Given the description of an element on the screen output the (x, y) to click on. 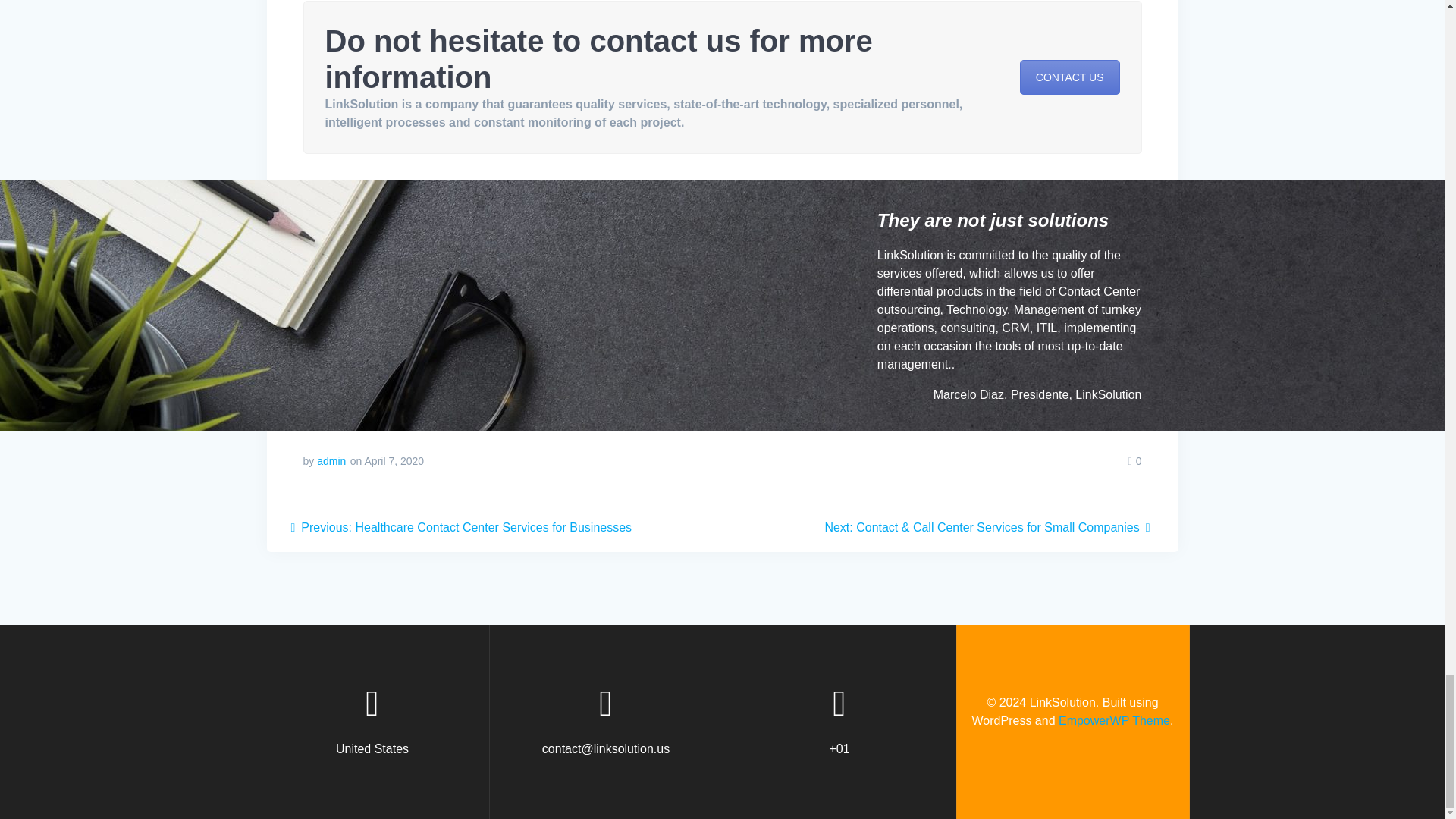
CONTACT US (1069, 77)
Posts by admin (331, 460)
admin (331, 460)
